Given the description of an element on the screen output the (x, y) to click on. 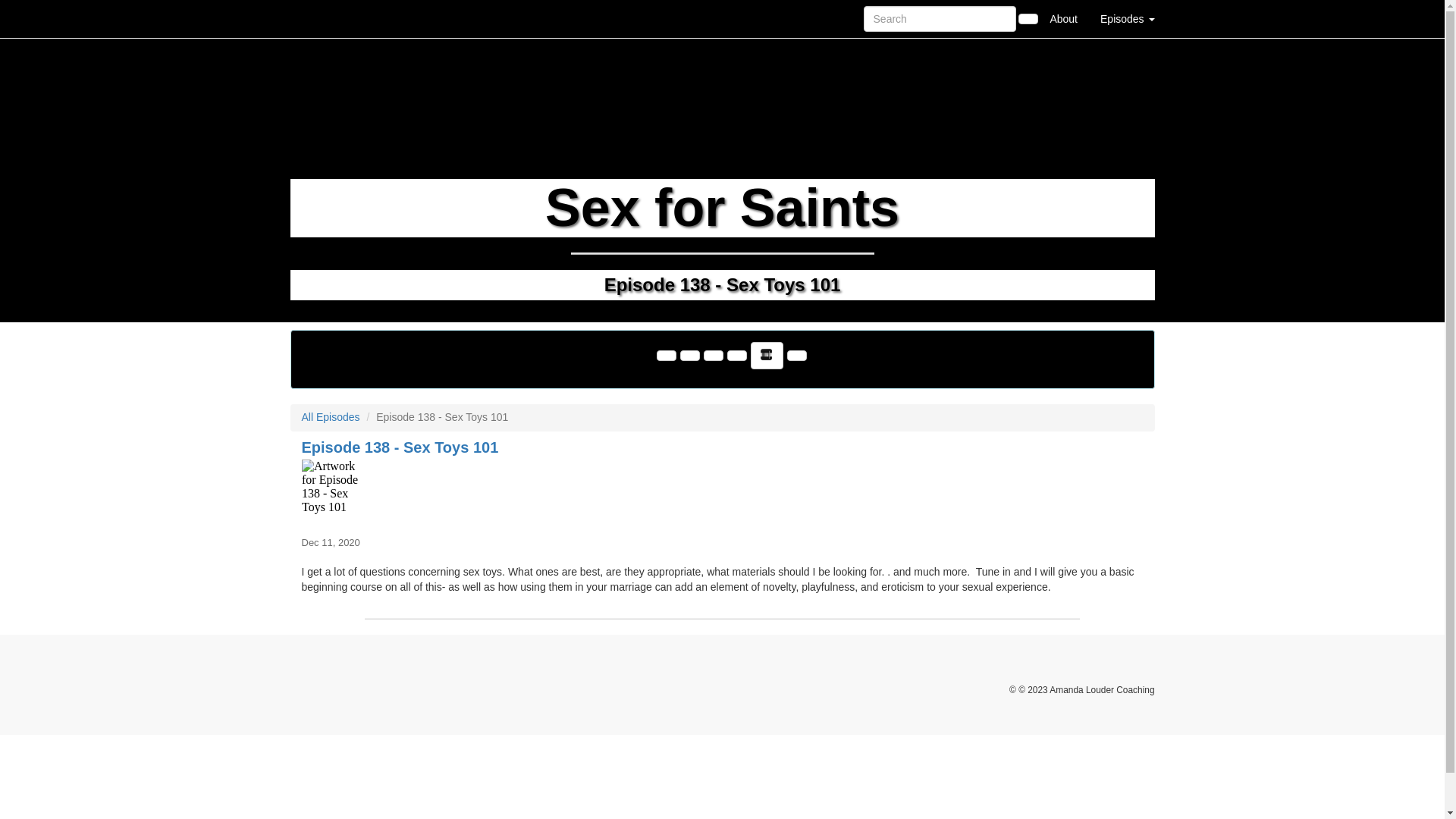
Episode 138 - Sex Toys 101 (721, 493)
Episodes (1127, 18)
Home Page (320, 18)
About (1063, 18)
